Given the description of an element on the screen output the (x, y) to click on. 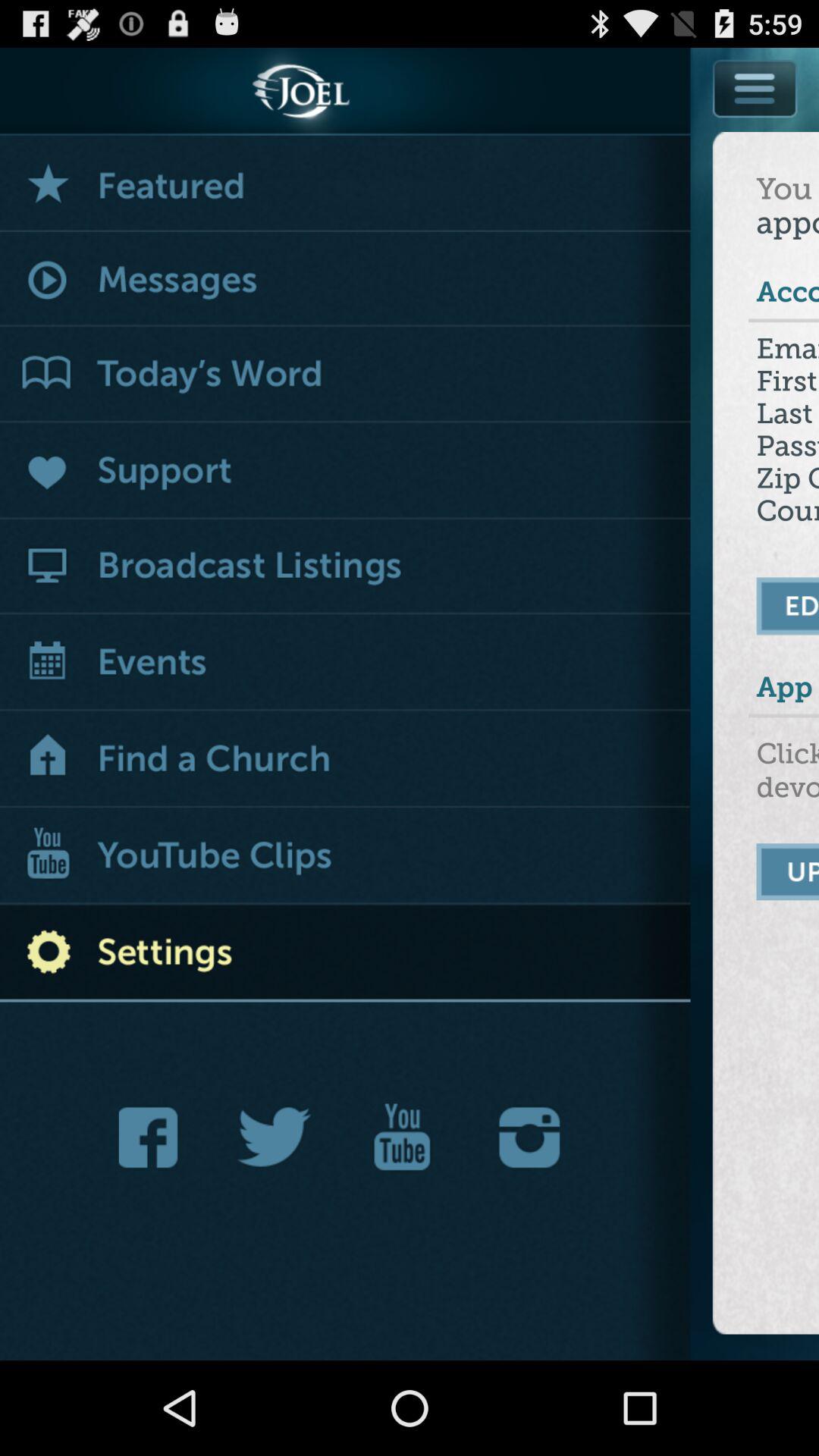
open the item to the left of the country item (345, 566)
